Given the description of an element on the screen output the (x, y) to click on. 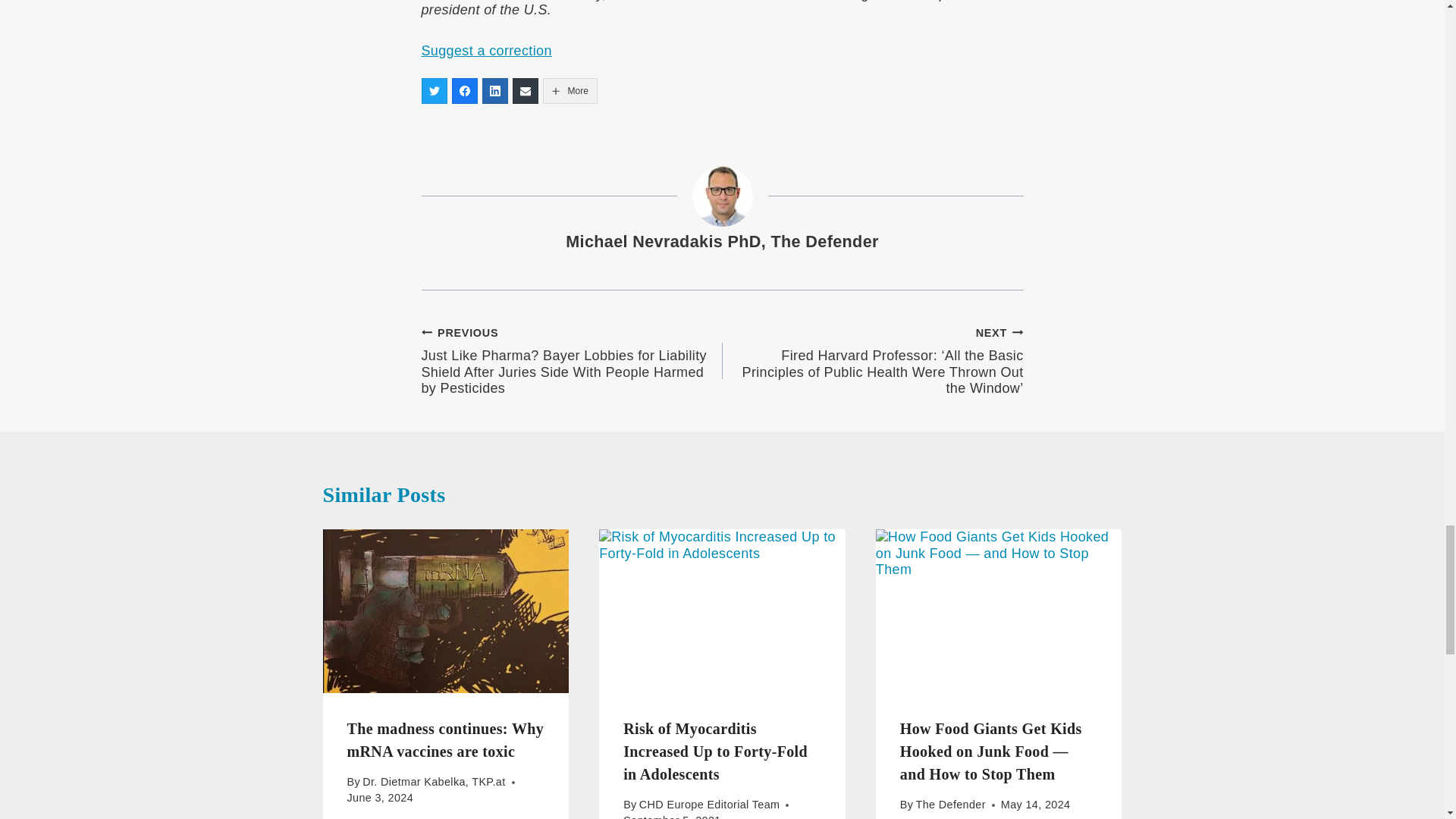
Posts by Michael Nevradakis PhD, The Defender (722, 240)
